Given the description of an element on the screen output the (x, y) to click on. 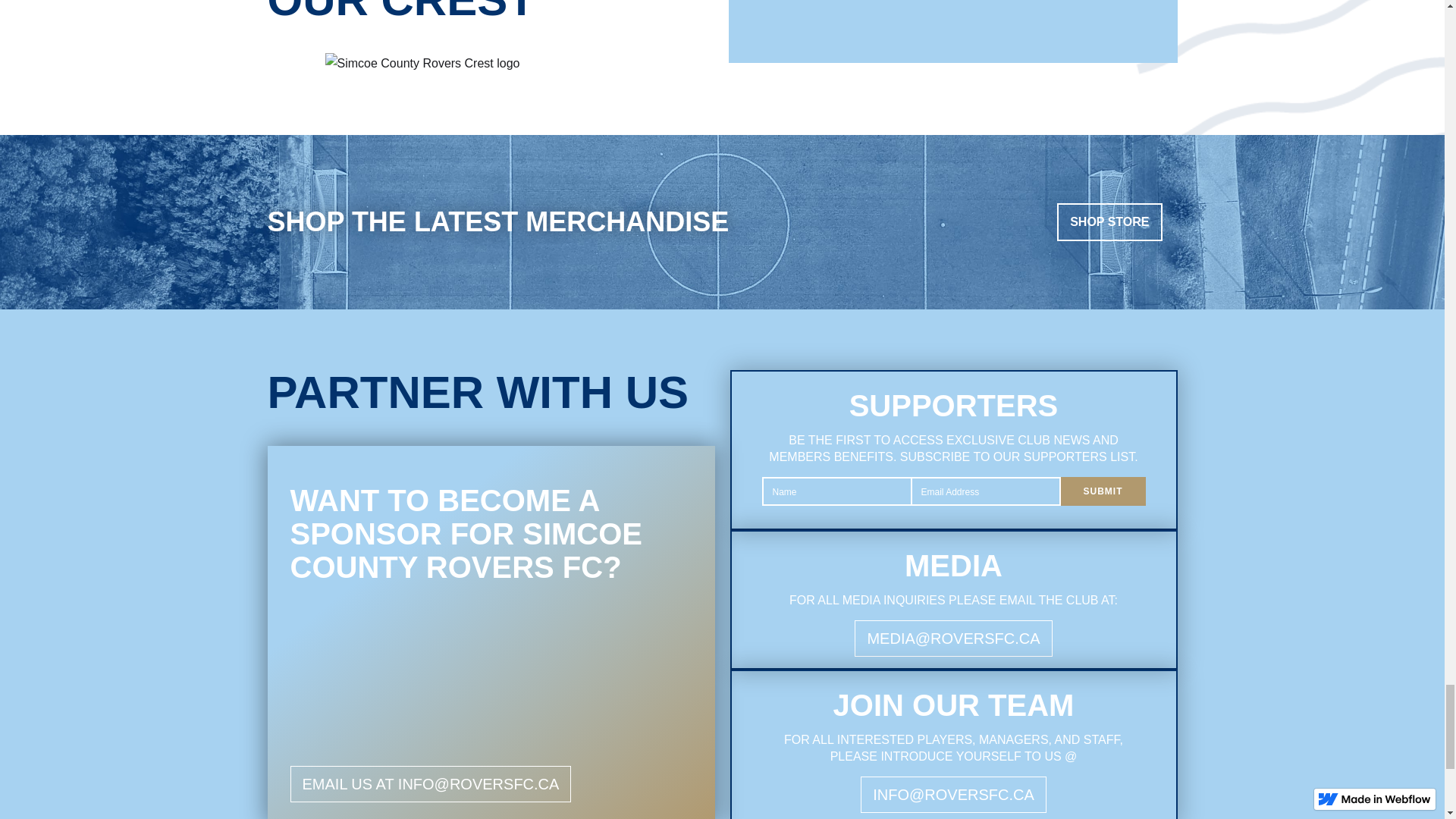
Submit (1101, 491)
